Given the description of an element on the screen output the (x, y) to click on. 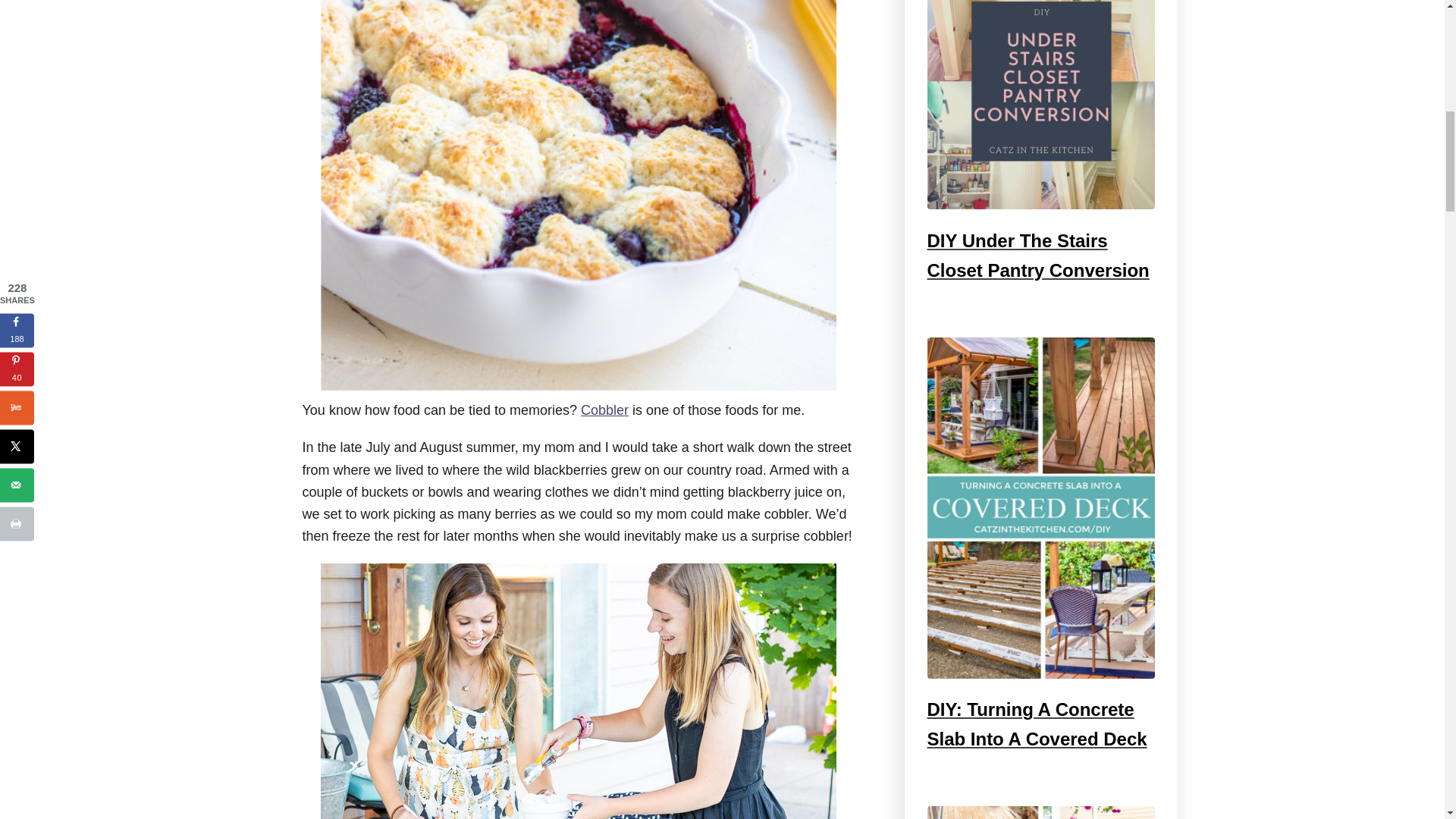
Cobbler (604, 409)
serving cobbler (577, 691)
